Given the description of an element on the screen output the (x, y) to click on. 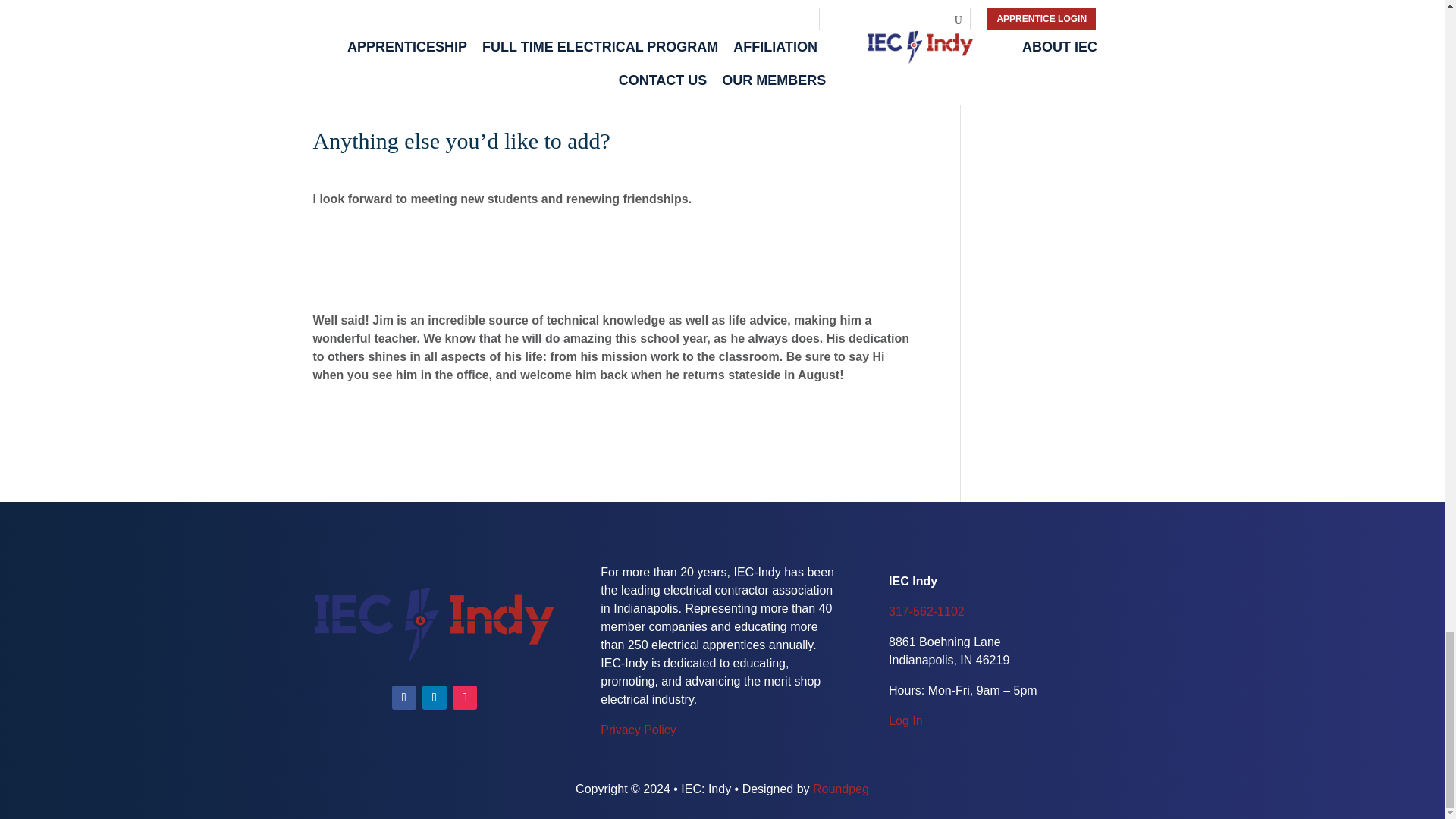
Follow on LinkedIn (434, 697)
Follow on Facebook (403, 697)
Follow on Instagram (464, 697)
